Given the description of an element on the screen output the (x, y) to click on. 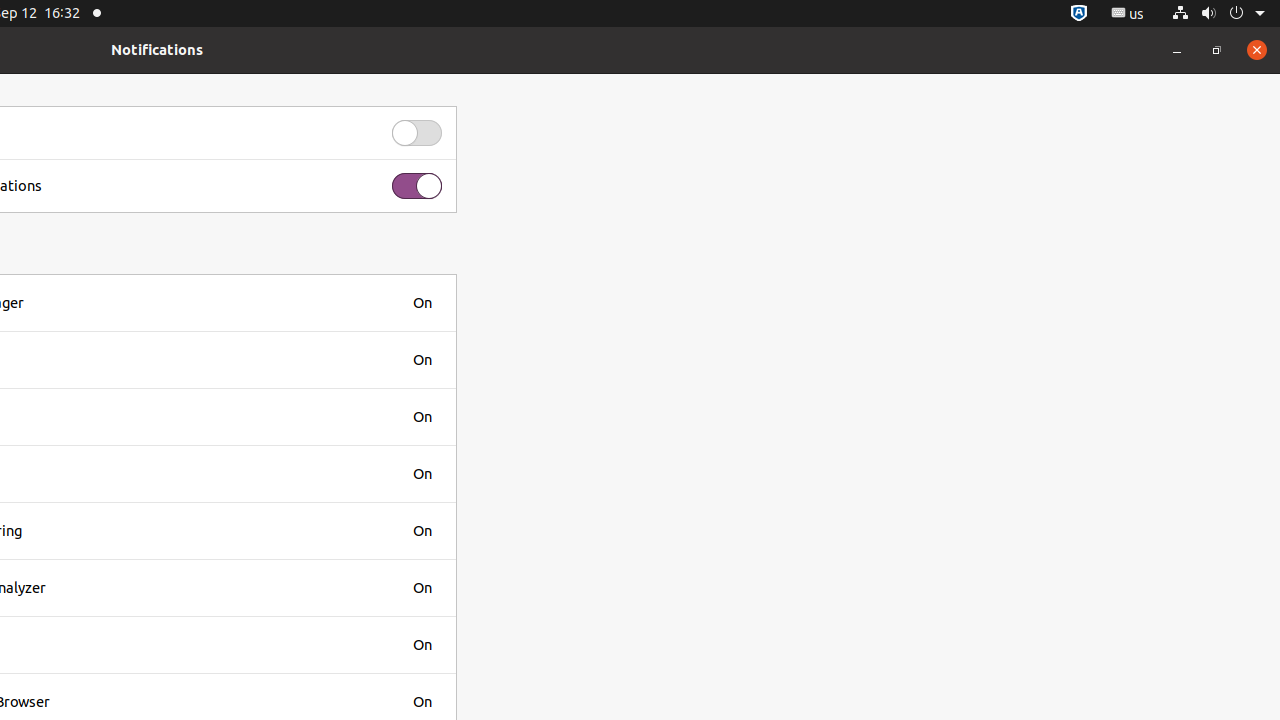
Restore Element type: push-button (1217, 50)
Notifications Element type: label (157, 49)
Minimize Element type: push-button (1177, 50)
